Given the description of an element on the screen output the (x, y) to click on. 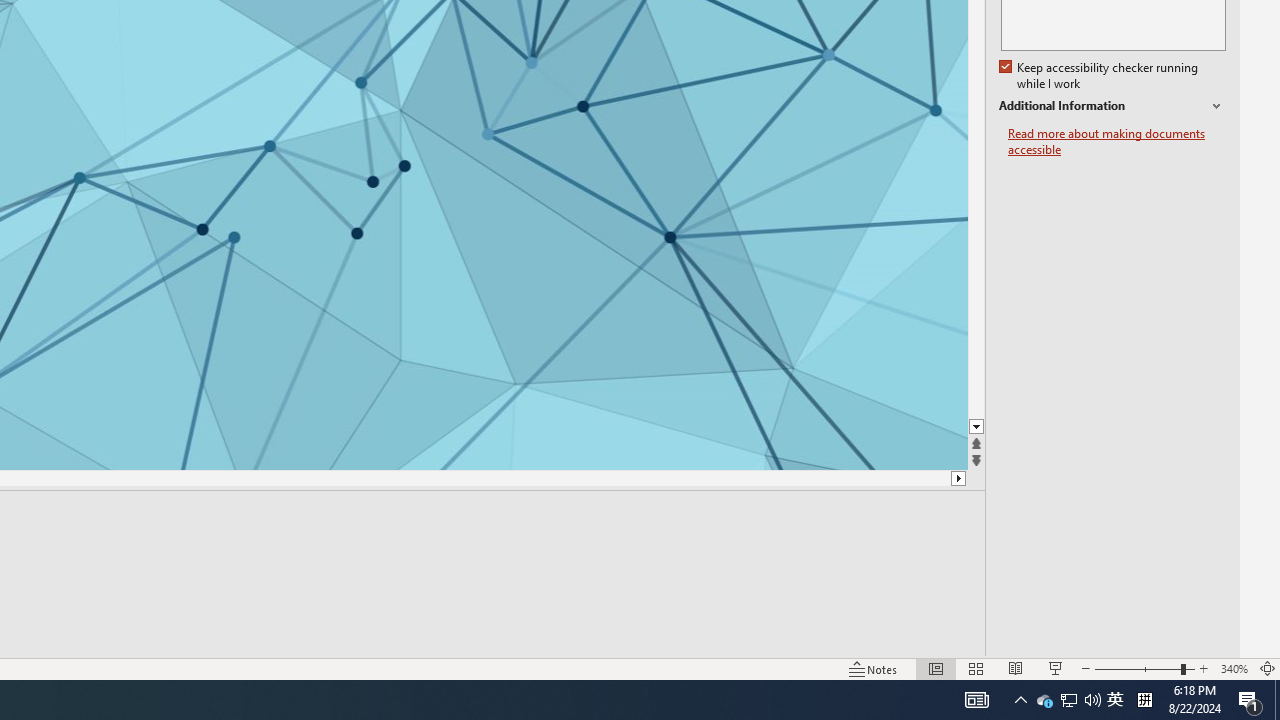
Keep accessibility checker running while I work (1099, 76)
Read more about making documents accessible (1117, 142)
Zoom 340% (1234, 668)
Additional Information (1112, 106)
